Given the description of an element on the screen output the (x, y) to click on. 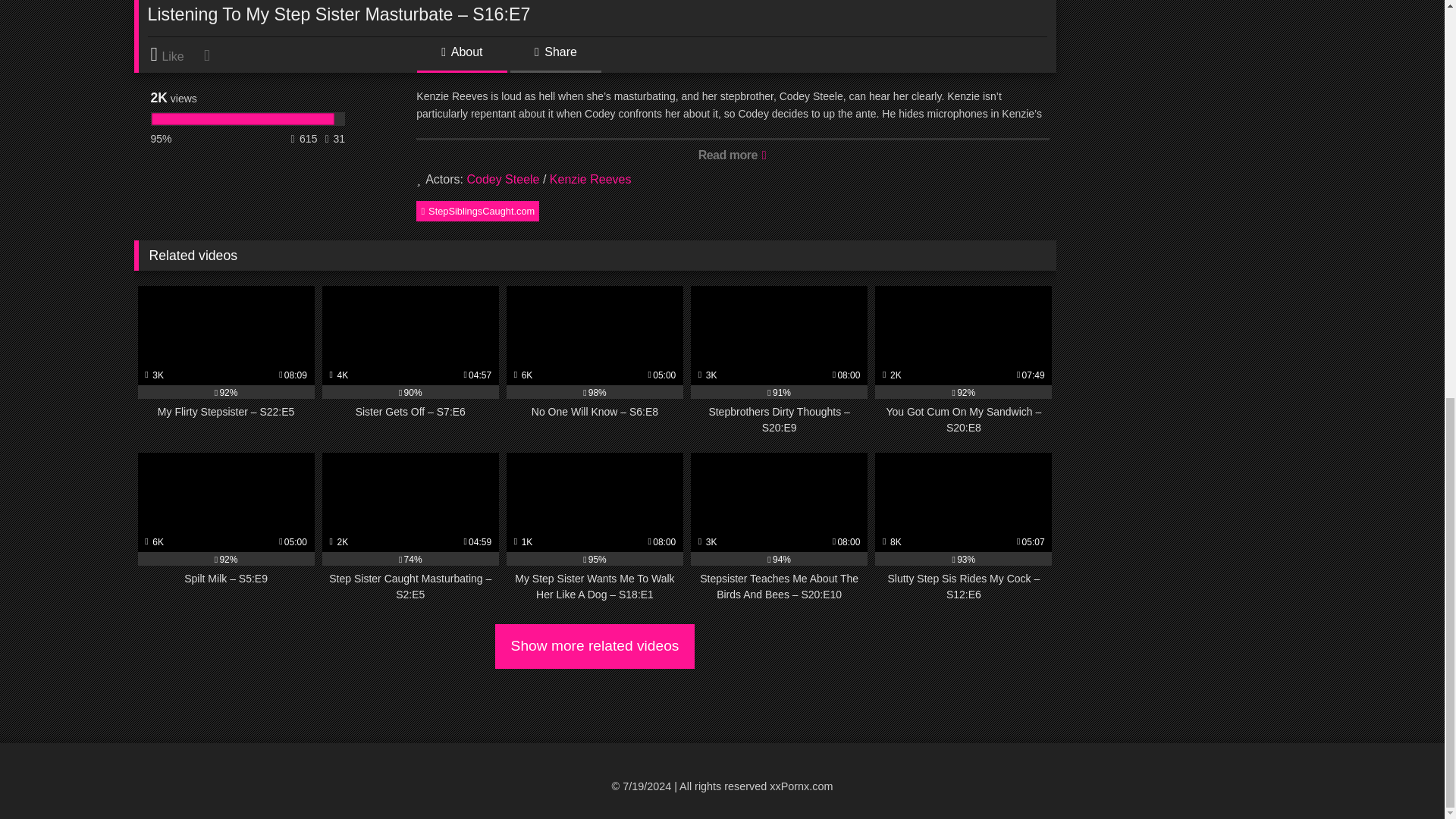
Codey Steele (501, 178)
StepSiblingsCaught.com (477, 210)
Codey Steele (501, 178)
Like (174, 54)
Read more (732, 154)
Kenzie Reeves (590, 178)
StepSiblingsCaught.com (477, 210)
About (461, 57)
I like this (174, 54)
Kenzie Reeves (590, 178)
Share (556, 57)
